Given the description of an element on the screen output the (x, y) to click on. 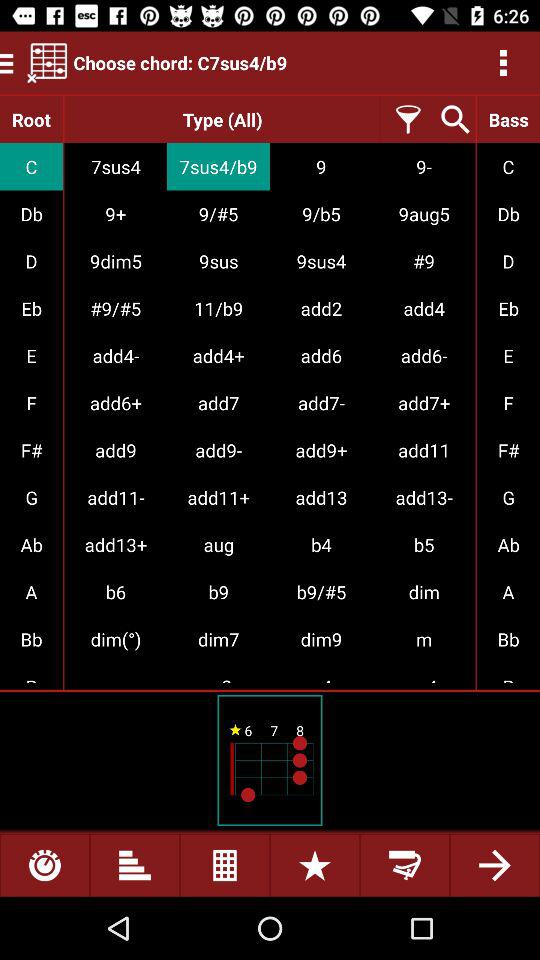
search chords (451, 119)
